Given the description of an element on the screen output the (x, y) to click on. 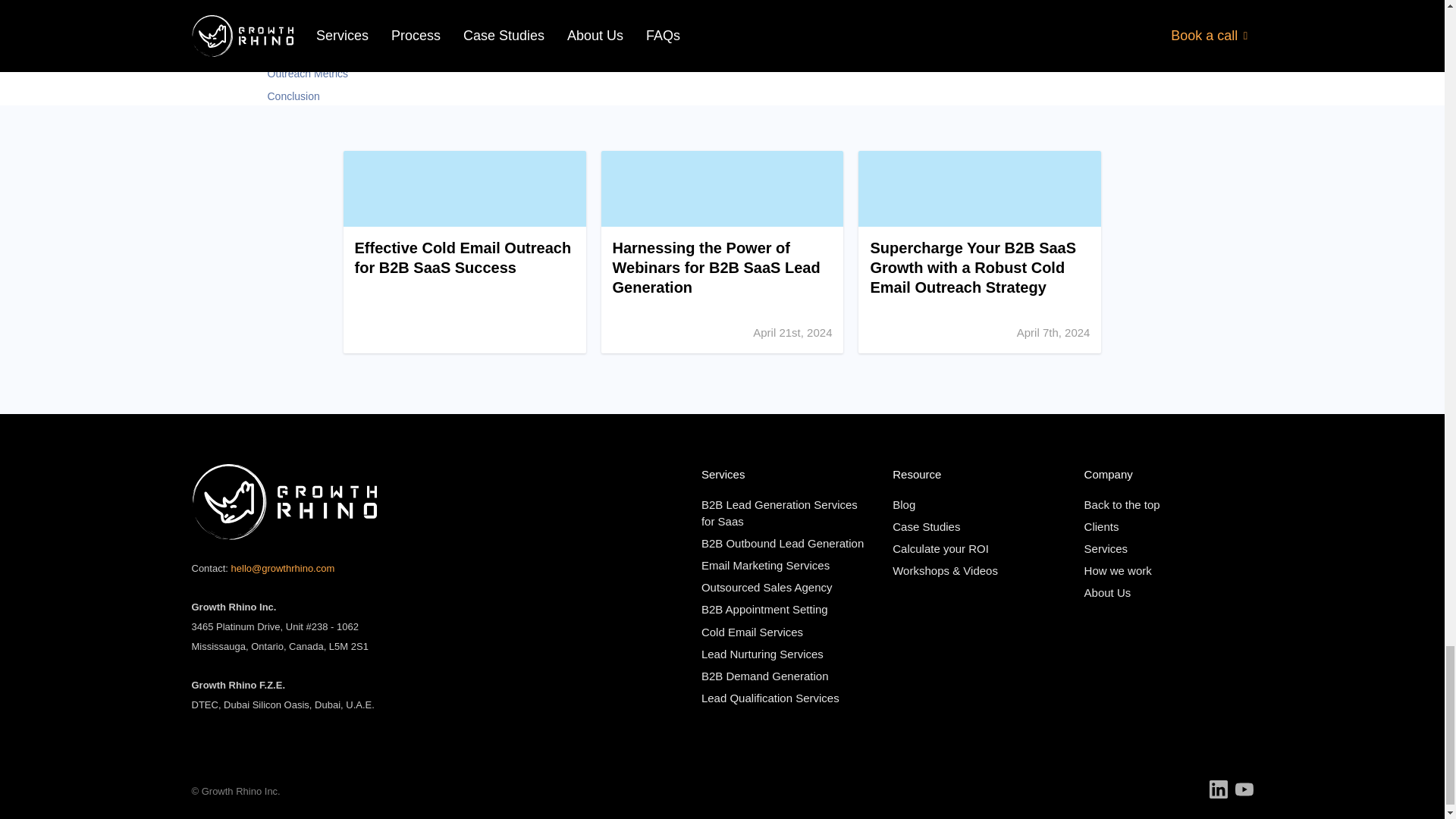
Lead Qualification Services (770, 697)
Calculate your ROI (940, 548)
B2B Lead Generation Services for Saas   (779, 512)
Cold Email Services (752, 631)
B2B Demand Generation (764, 675)
Outsourced Sales Agency (766, 586)
Blog (903, 504)
Email Marketing Services (765, 564)
Lead Nurturing Services (762, 653)
Case Studies (925, 526)
Services (1106, 548)
Back to the top (1122, 504)
B2B Appointment Setting (764, 608)
